Given the description of an element on the screen output the (x, y) to click on. 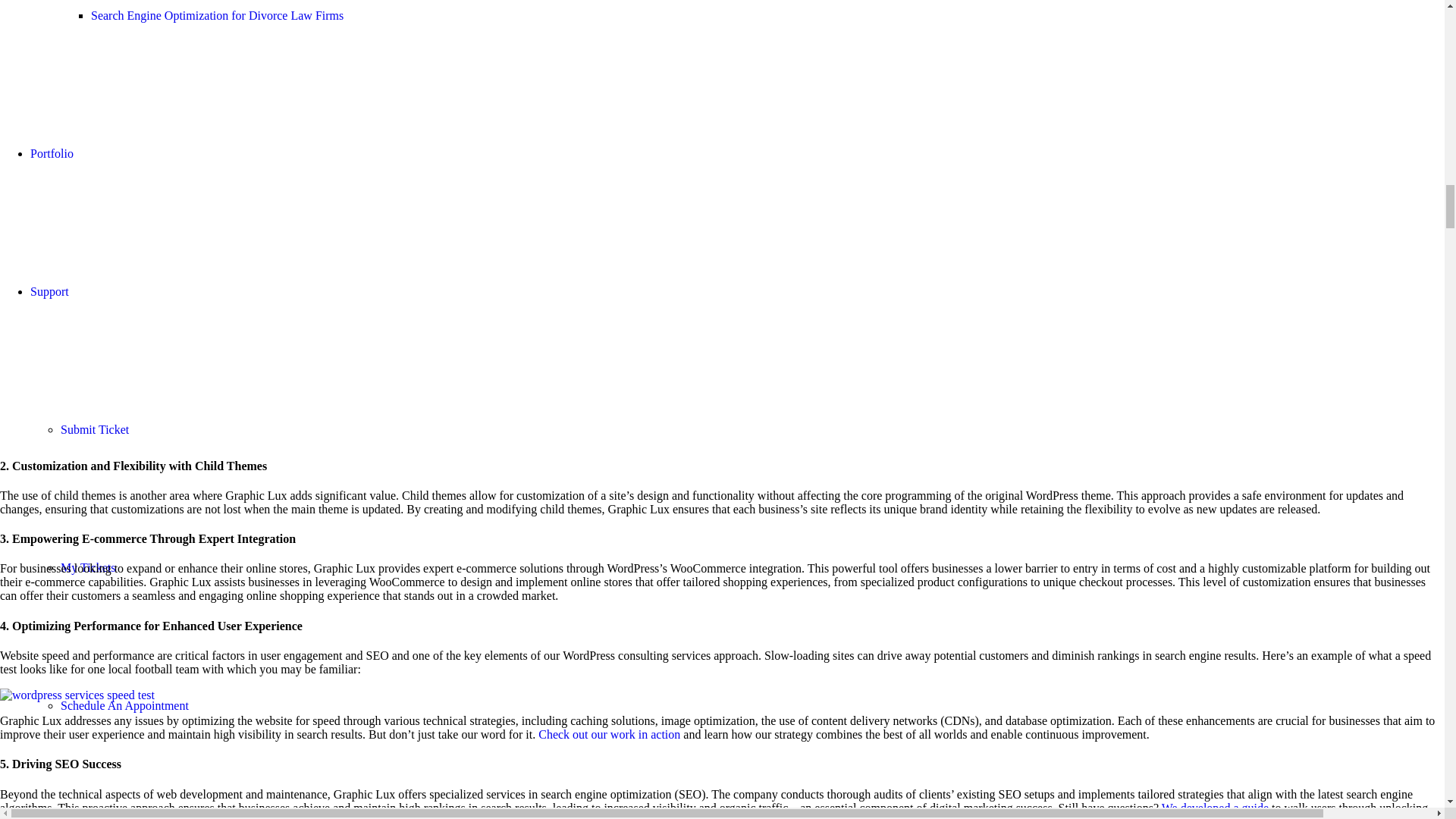
Search Engine Optimization for Divorce Law Firms (216, 15)
My Tickets (88, 567)
Schedule An Appointment (125, 705)
Support (49, 291)
Portfolio (52, 153)
Submit Ticket (95, 429)
